Given the description of an element on the screen output the (x, y) to click on. 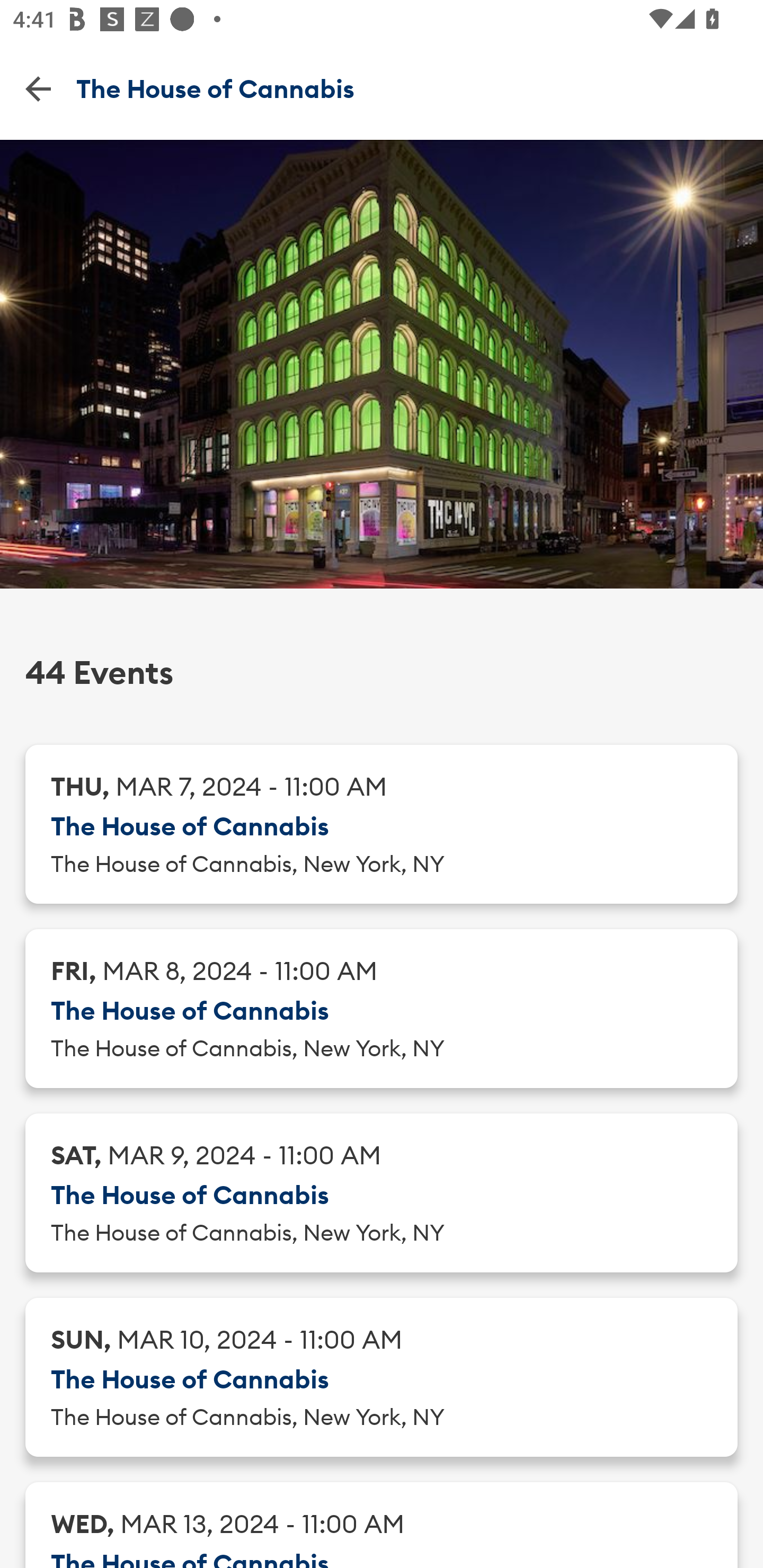
Back (38, 88)
